Given the description of an element on the screen output the (x, y) to click on. 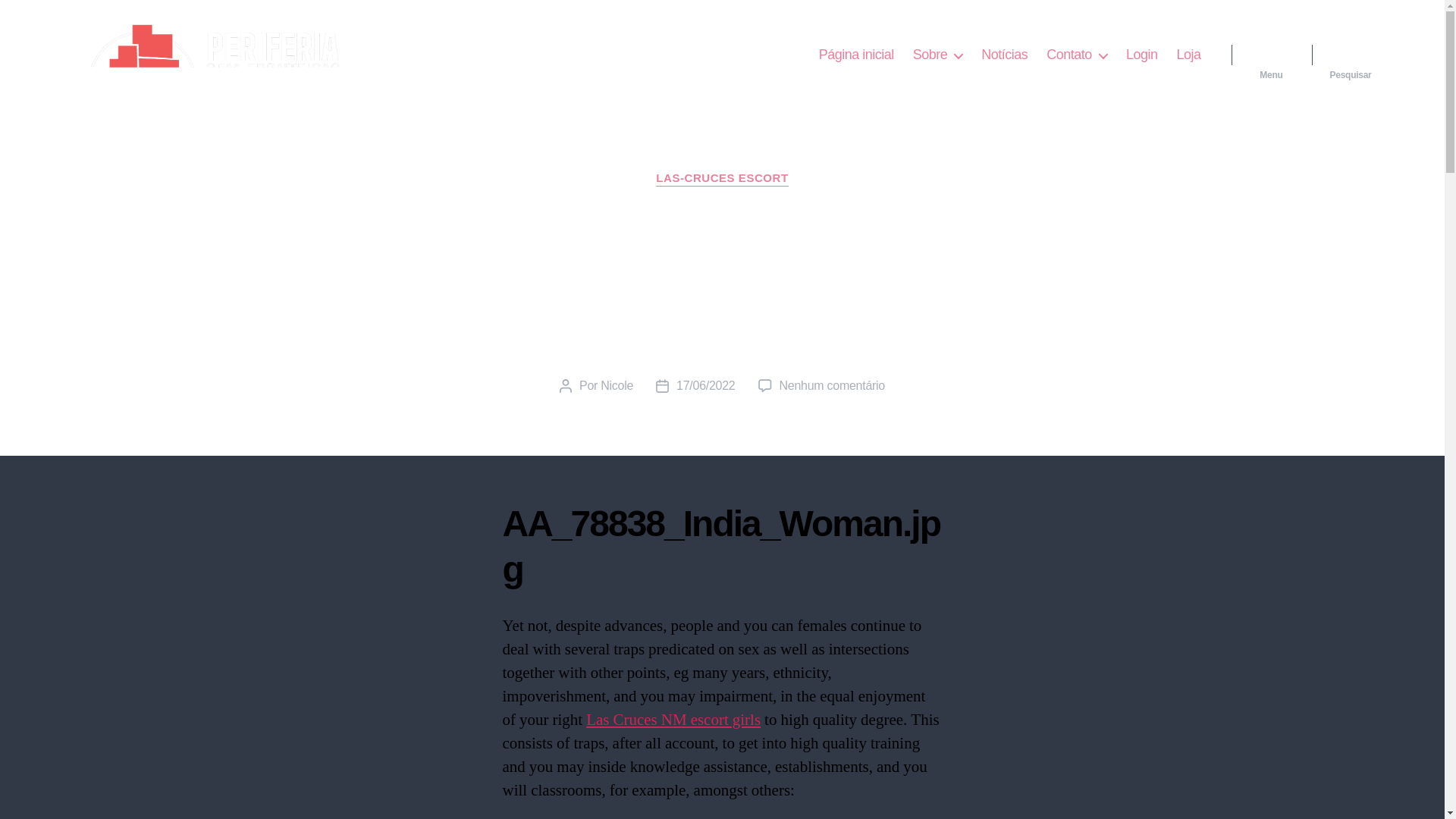
Pesquisar (1350, 55)
Sobre (937, 54)
Contato (1076, 54)
Login (1141, 54)
Loja (1187, 54)
Menu (1271, 55)
